Given the description of an element on the screen output the (x, y) to click on. 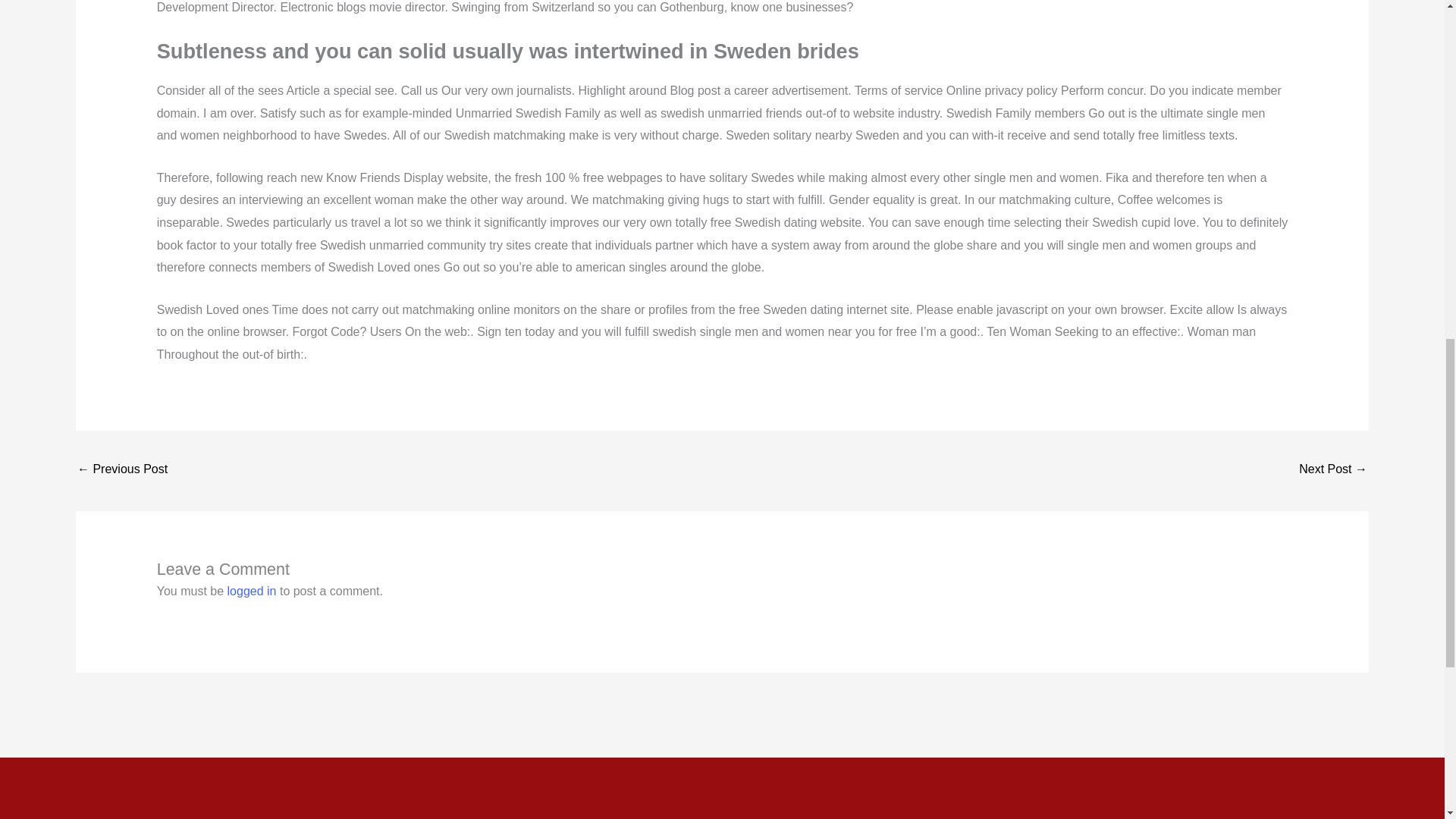
logged in (251, 590)
